Given the description of an element on the screen output the (x, y) to click on. 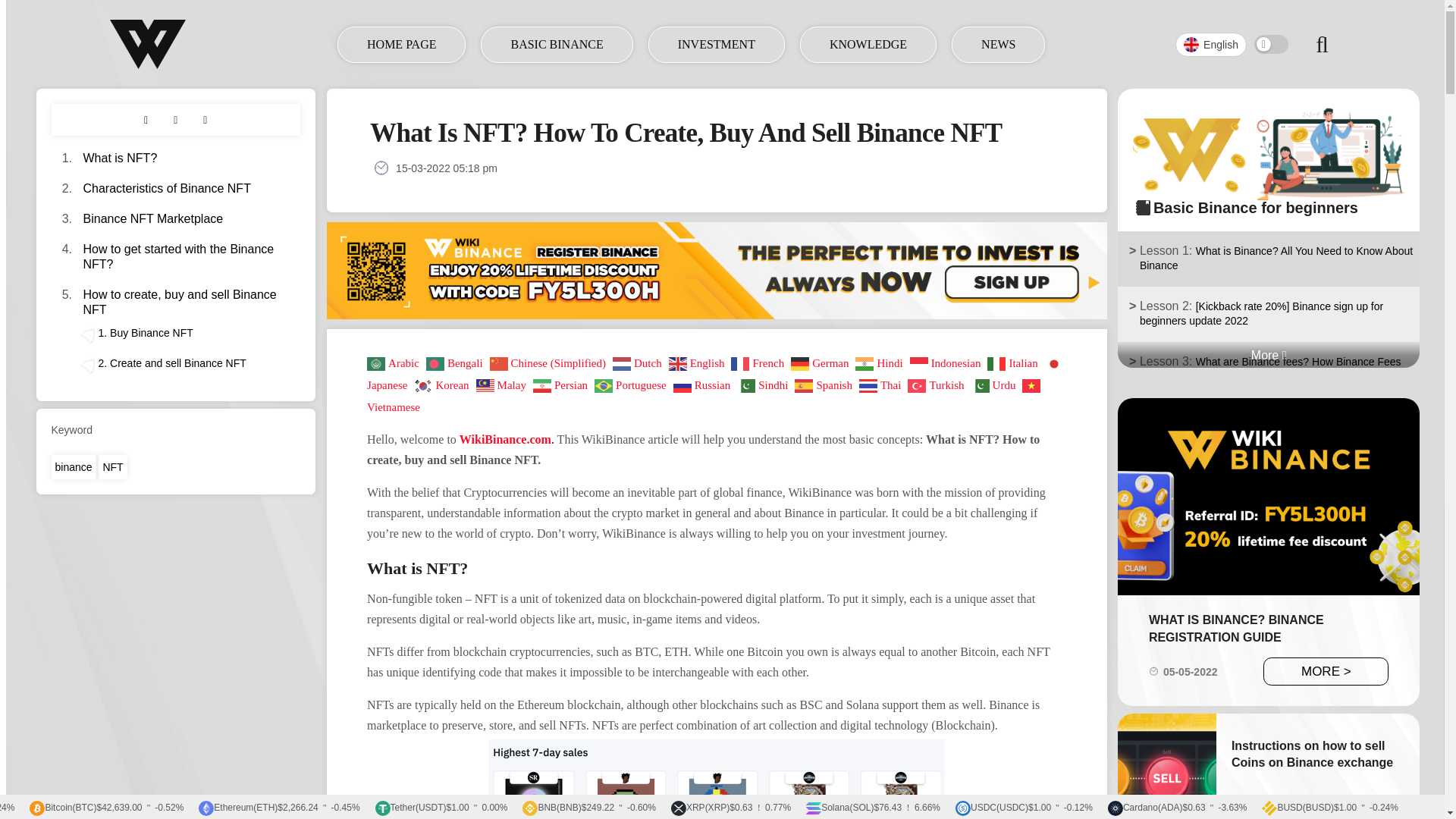
KNOWLEDGE (868, 44)
How to get started with the Binance NFT? (178, 256)
Indonesian (947, 362)
German (820, 362)
French (758, 362)
Dutch (638, 362)
Malay (502, 383)
Portuguese (631, 383)
HOME PAGE (400, 44)
Dutch (638, 362)
